Given the description of an element on the screen output the (x, y) to click on. 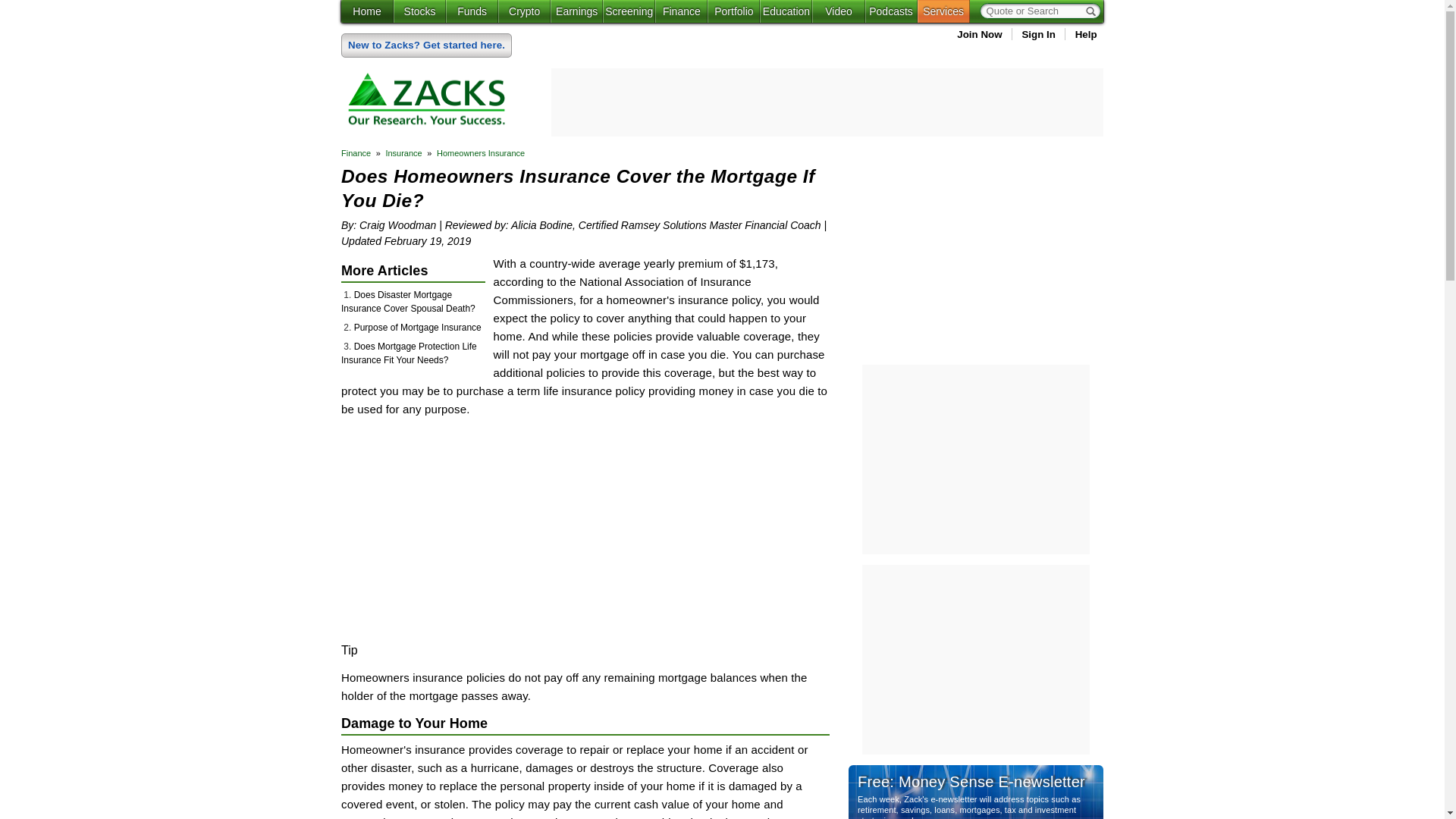
Stocks (419, 11)
Screening (628, 11)
Finance (681, 11)
Advertisement (975, 253)
Home (366, 11)
Earnings (576, 11)
Funds (471, 11)
Advertisement (499, 530)
Portfolio (733, 11)
Crypto (523, 11)
